Given the description of an element on the screen output the (x, y) to click on. 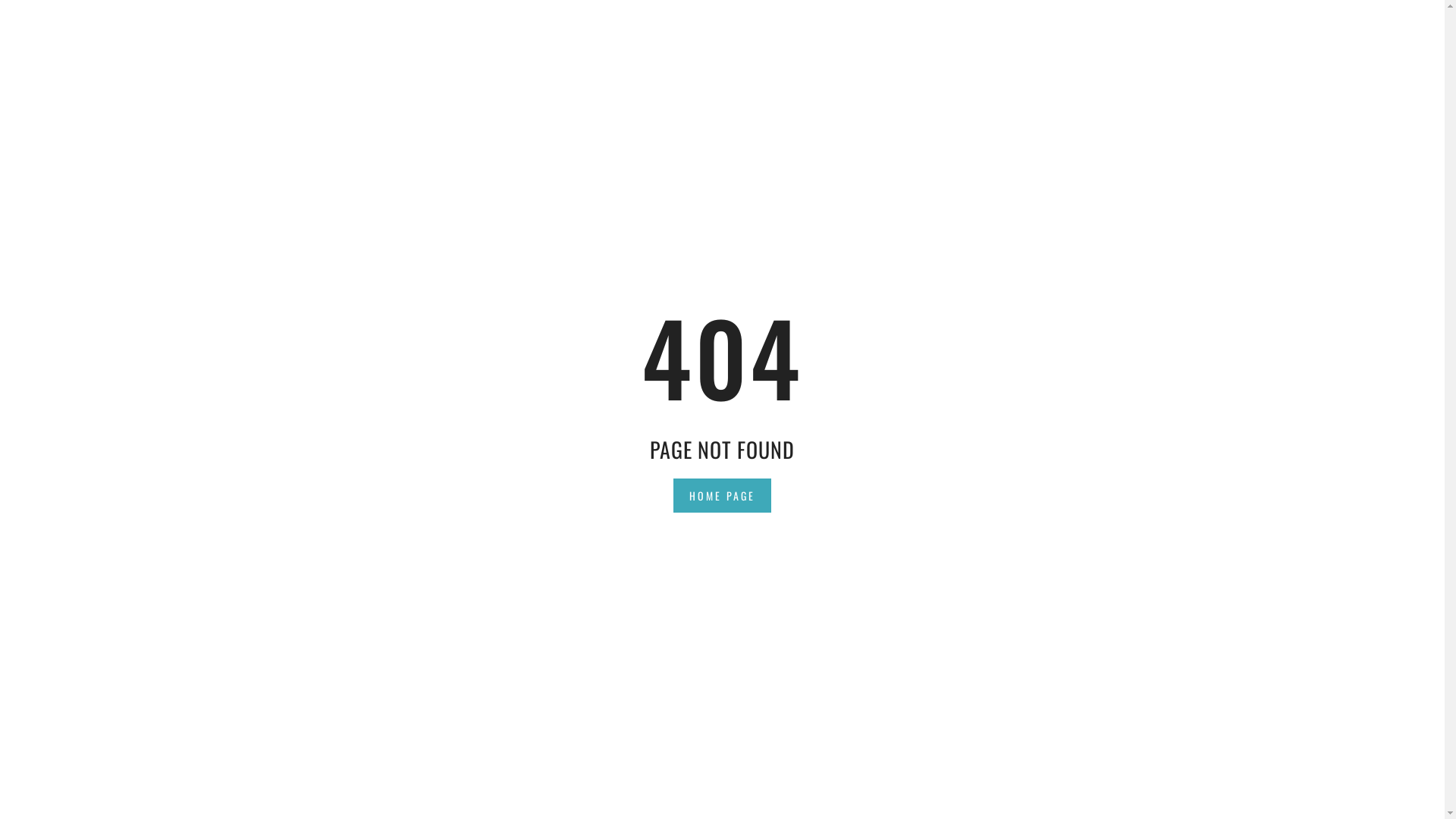
HOME PAGE Element type: text (722, 494)
